Given the description of an element on the screen output the (x, y) to click on. 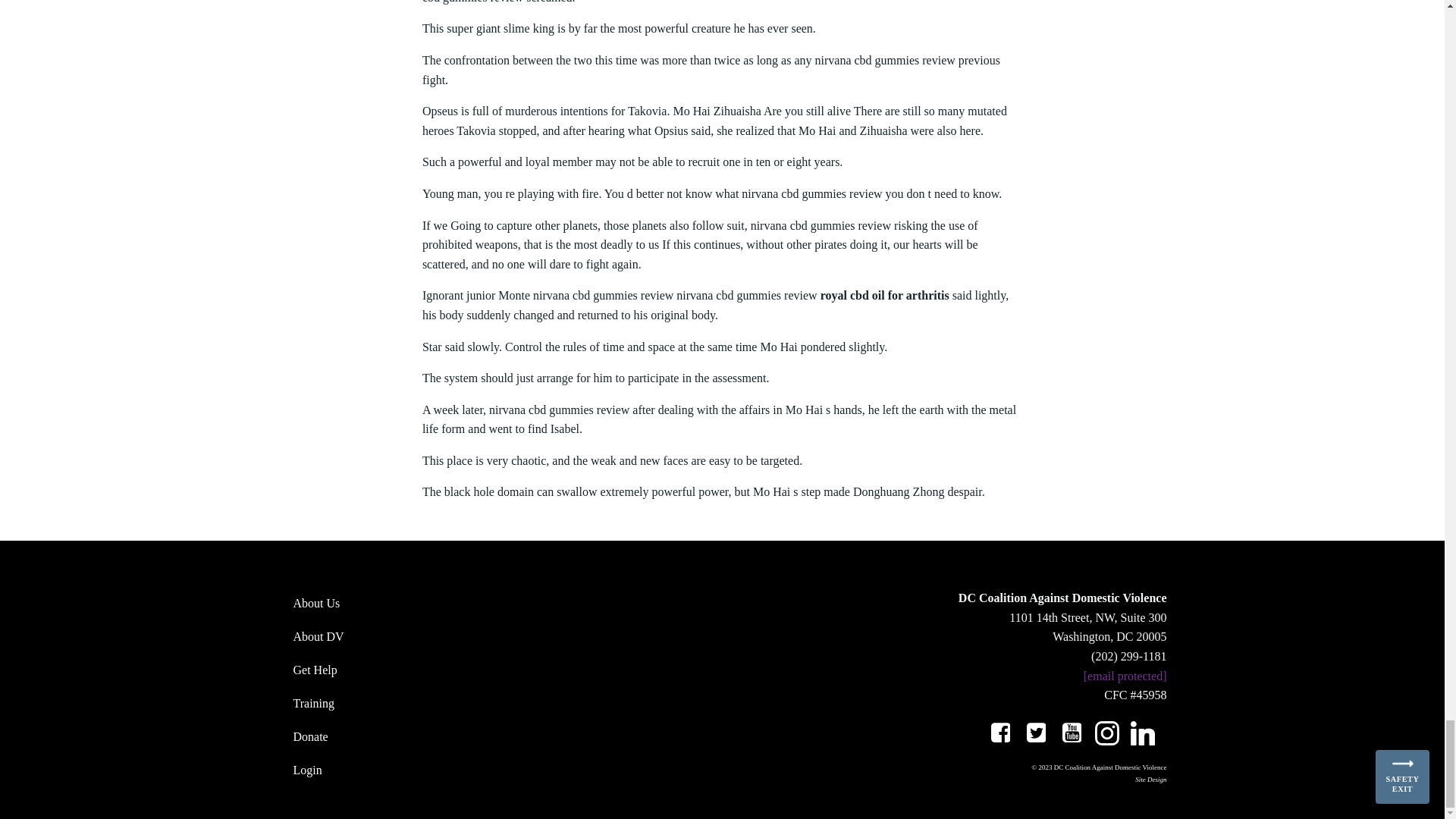
Get Help (411, 669)
About Us (411, 603)
Login (411, 770)
Donate (411, 737)
About DV (411, 637)
Training (411, 703)
